Given the description of an element on the screen output the (x, y) to click on. 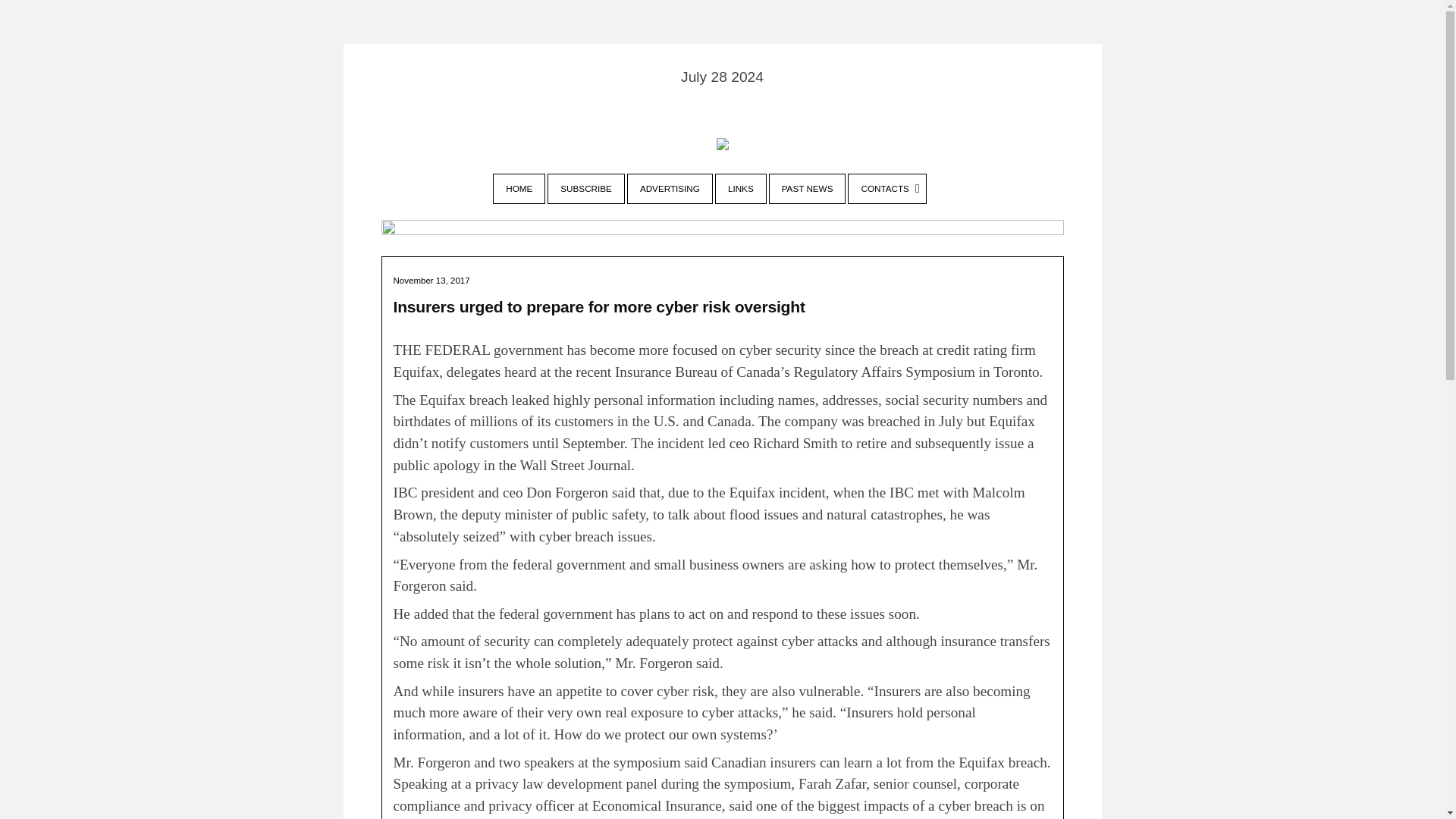
CONTACTS (886, 188)
HOME (518, 188)
November 13, 2017 (430, 278)
Search (18, 17)
LINKS (740, 188)
SUBSCRIBE (586, 188)
ADVERTISING (669, 188)
PAST NEWS (807, 188)
